Given the description of an element on the screen output the (x, y) to click on. 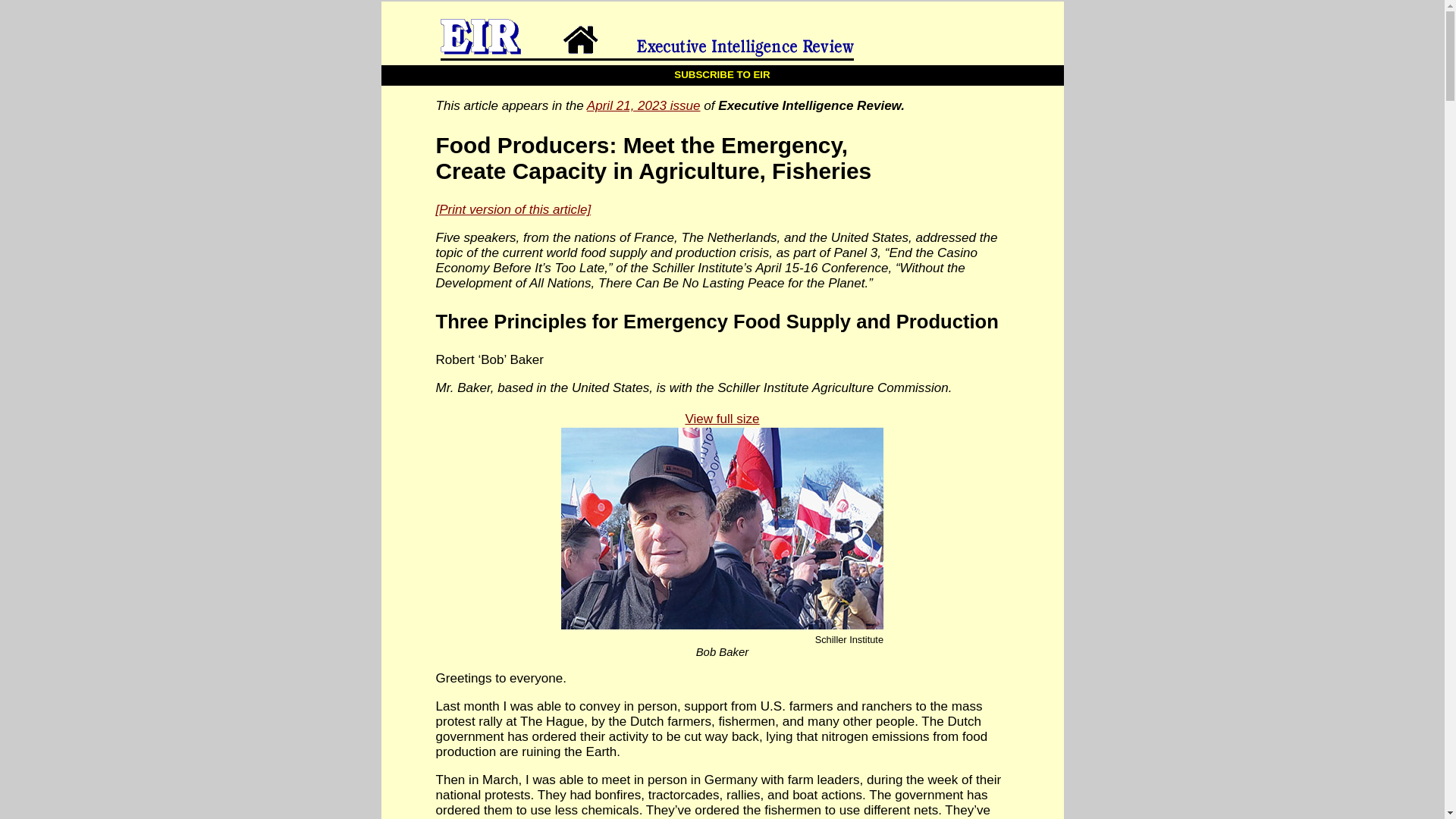
SUBSCRIBE TO EIR (721, 74)
View full size (721, 521)
Go to home page (748, 33)
April 21, 2023 issue (643, 105)
